Given the description of an element on the screen output the (x, y) to click on. 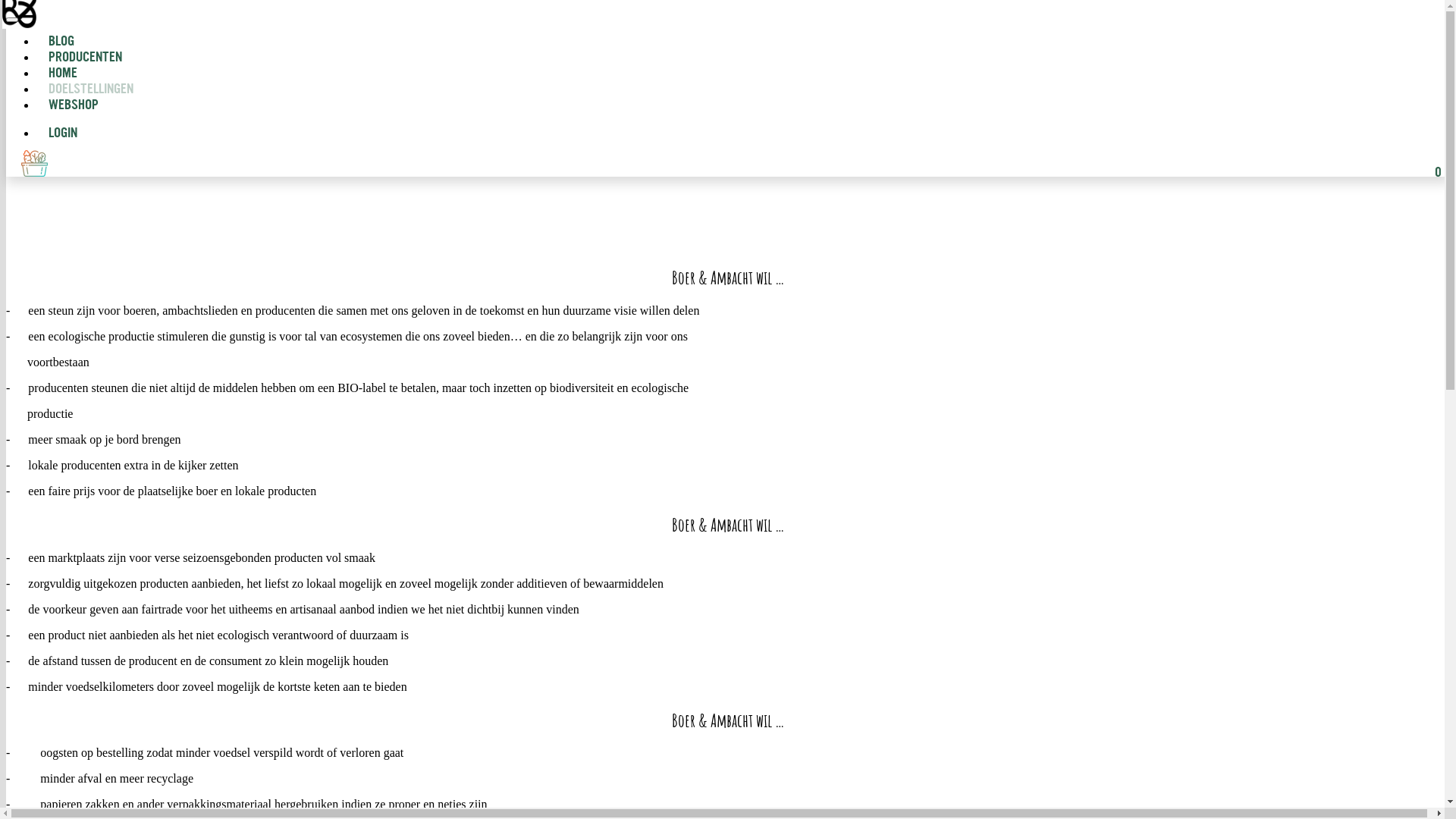
WEBSHOP Element type: text (67, 105)
HOME Element type: text (62, 73)
Winkelmand Element type: hover (34, 163)
BLOG Element type: text (61, 42)
DOELSTELLINGEN Element type: text (90, 89)
PRODUCENTEN Element type: text (85, 57)
LOGIN Element type: text (56, 133)
